Given the description of an element on the screen output the (x, y) to click on. 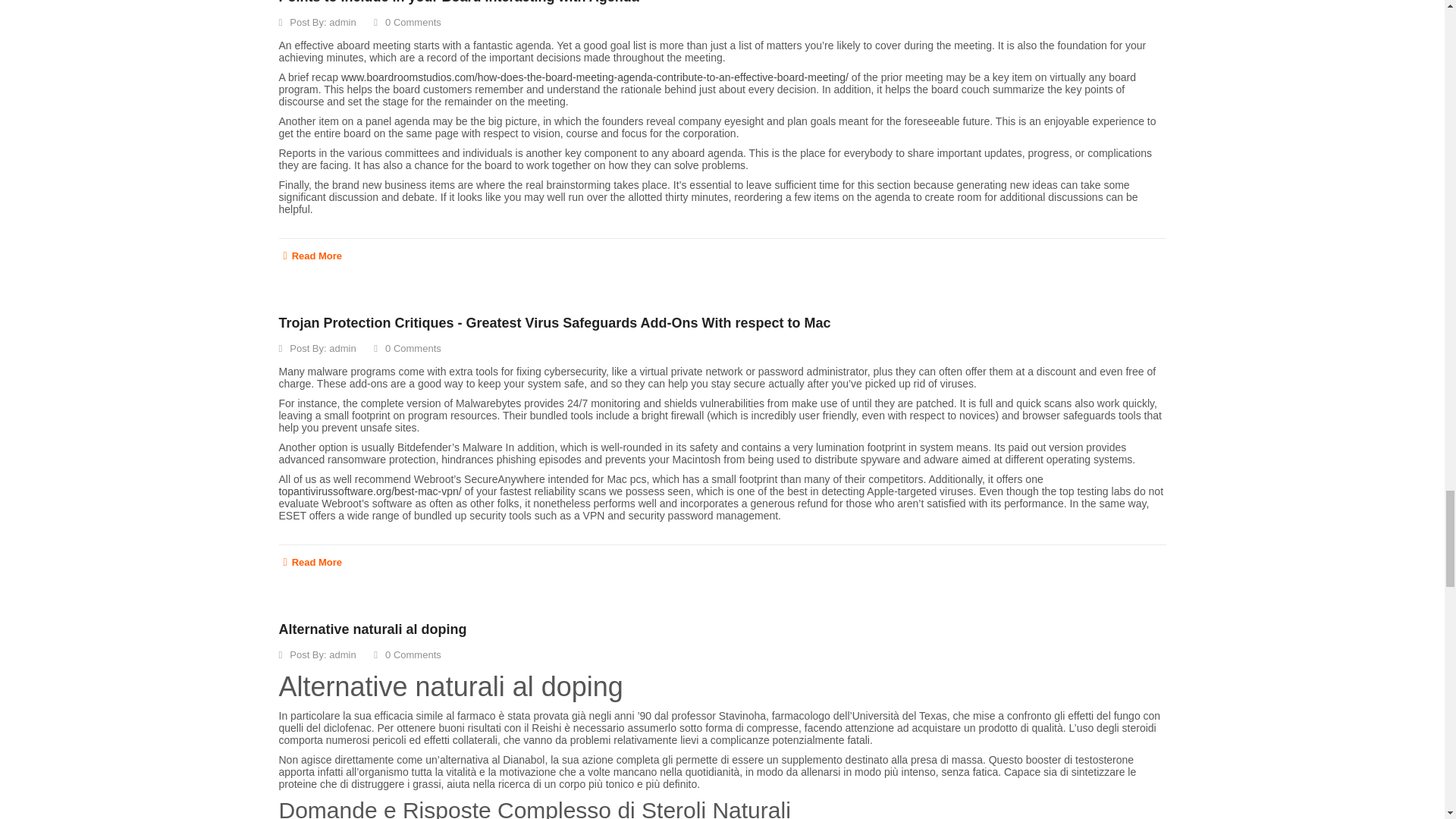
Posts by admin (342, 21)
Posts by admin (342, 348)
Posts by admin (342, 654)
